Given the description of an element on the screen output the (x, y) to click on. 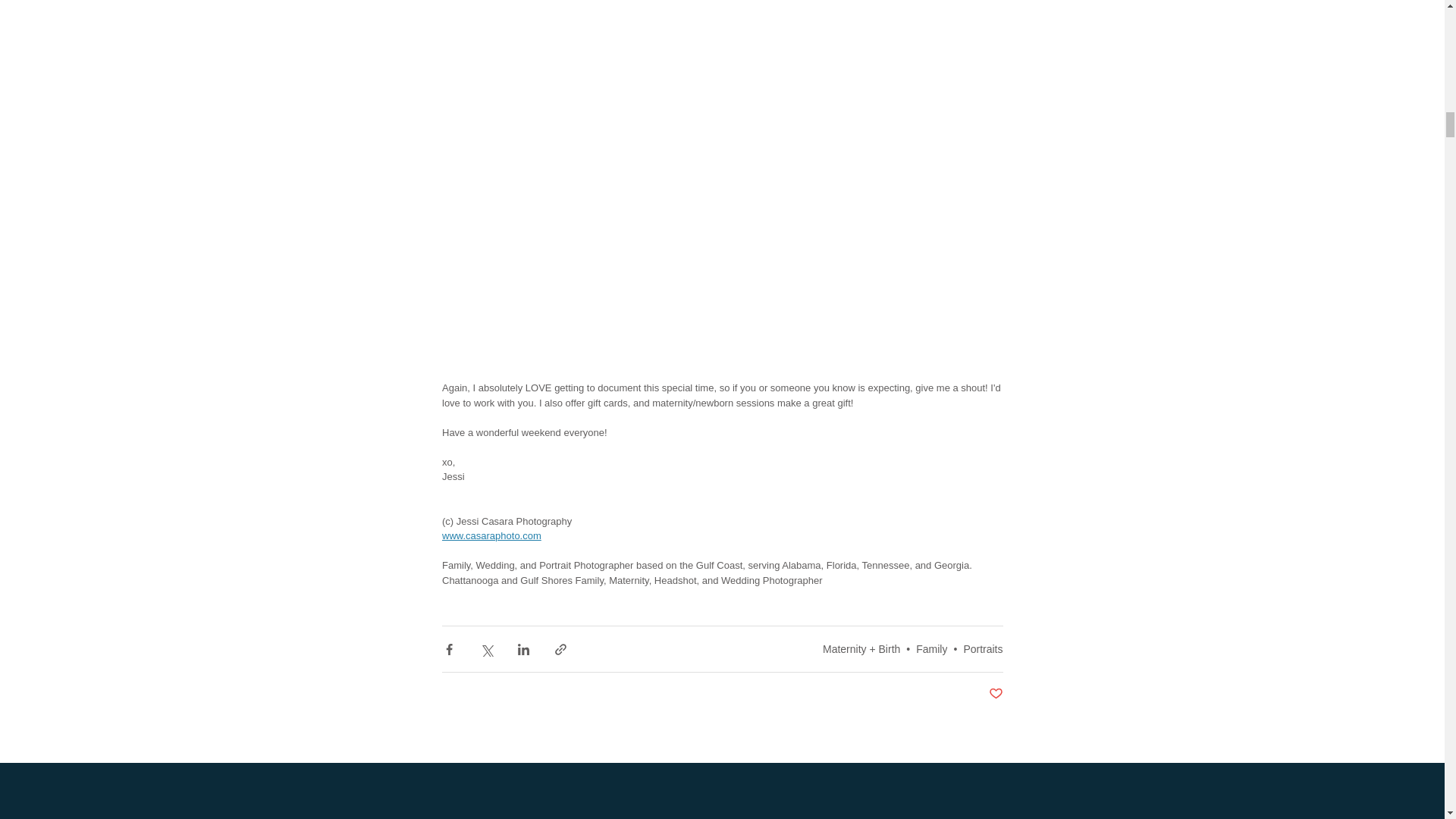
www.casaraphoto.com (490, 535)
